Given the description of an element on the screen output the (x, y) to click on. 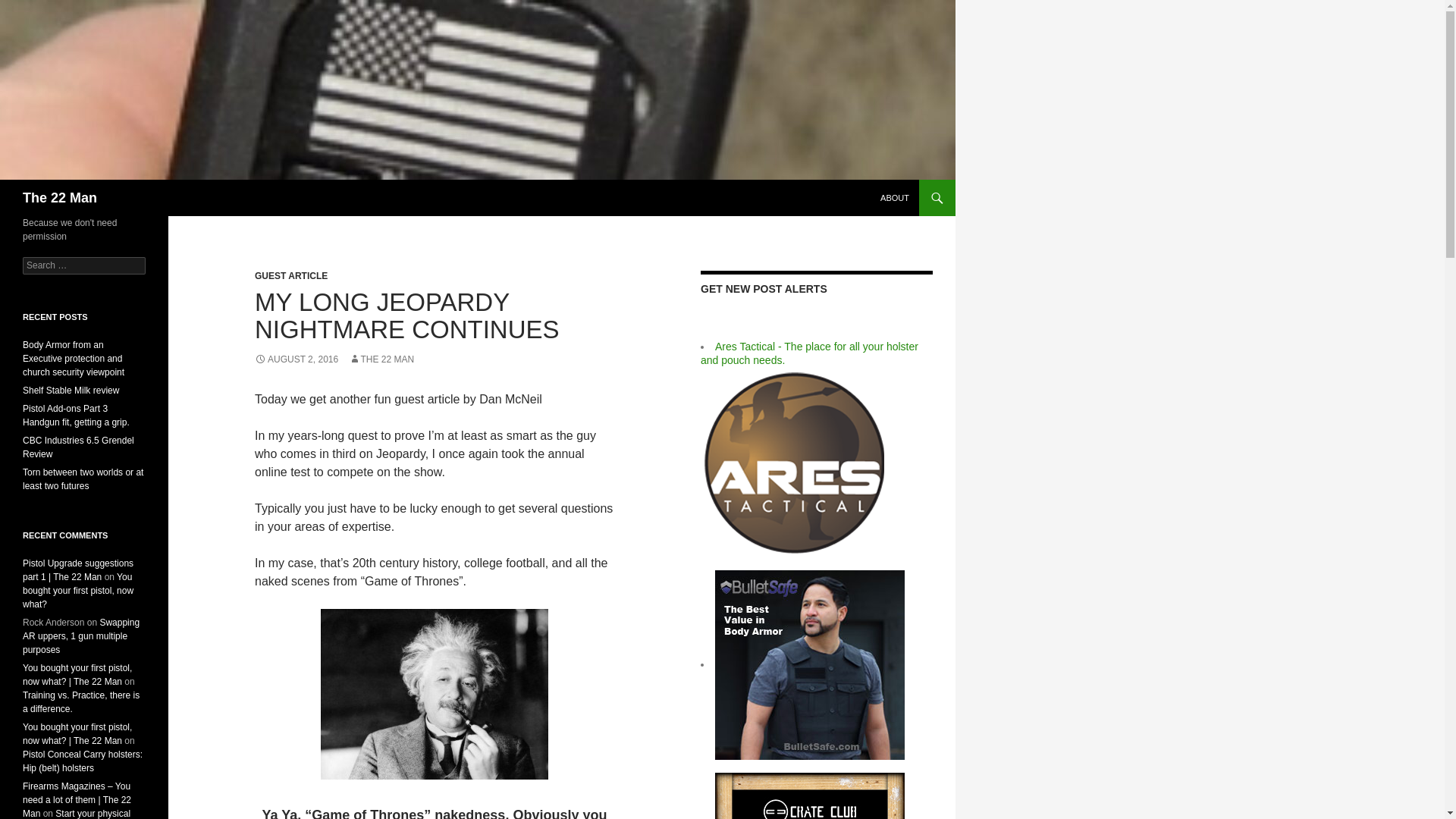
GUEST ARTICLE (290, 276)
Torn between two worlds or at least two futures (82, 478)
Pistol Add-ons Part 3 Handgun fit, getting a grip. (76, 415)
AUGUST 2, 2016 (295, 358)
Training vs. Practice, there is a difference. (81, 702)
THE 22 MAN (381, 358)
Shelf Stable Milk review (71, 389)
Swapping AR uppers, 1 gun multiple purposes (81, 636)
CBC Industries 6.5 Grendel Review (78, 446)
Search (30, 8)
Start your physical security on a budget (77, 813)
